Given the description of an element on the screen output the (x, y) to click on. 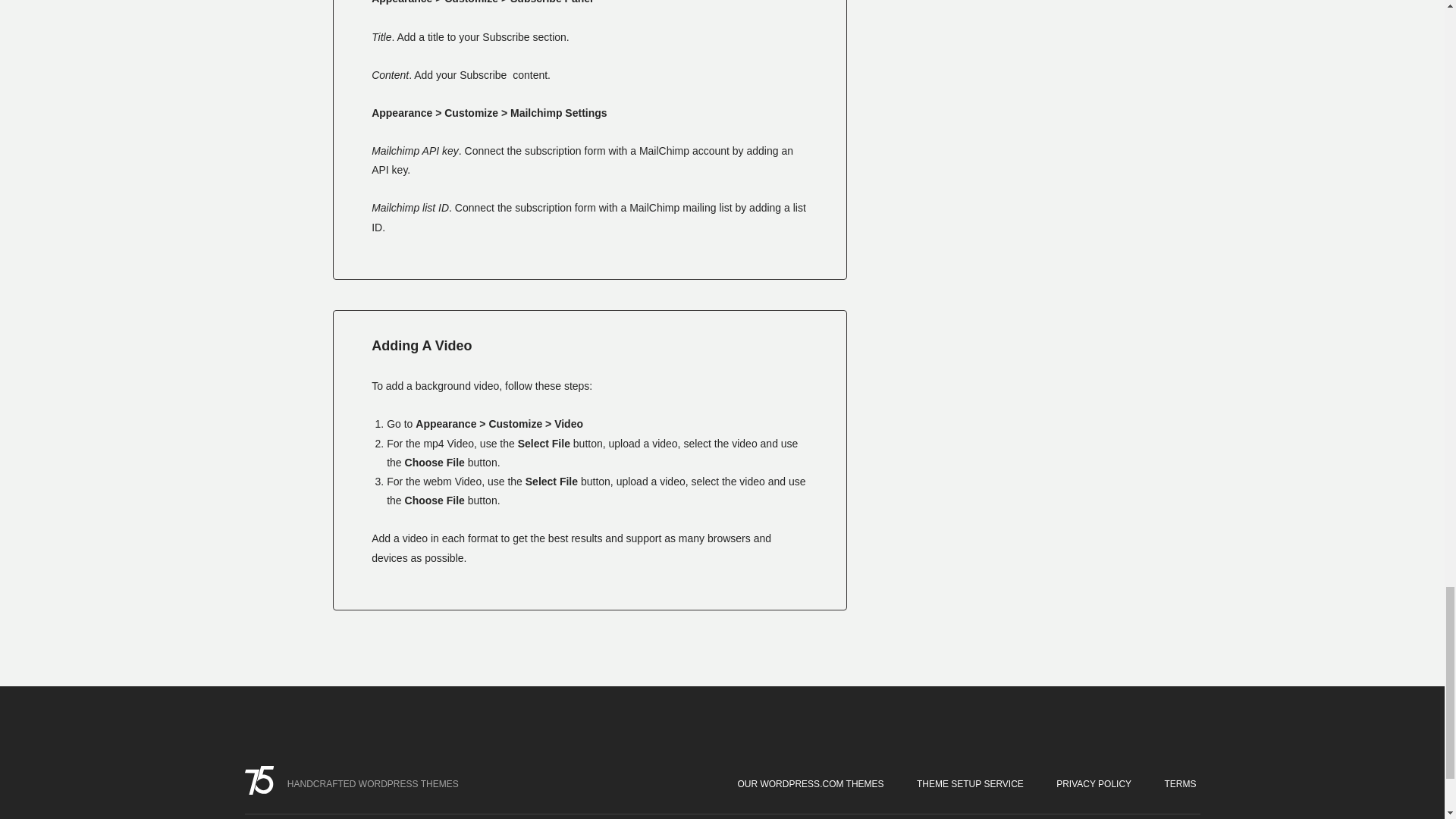
PRIVACY POLICY (1093, 783)
TERMS (1179, 783)
OUR WORDPRESS.COM THEMES (809, 783)
HANDCRAFTED WORDPRESS THEMES (356, 783)
THEME SETUP SERVICE (969, 783)
